Given the description of an element on the screen output the (x, y) to click on. 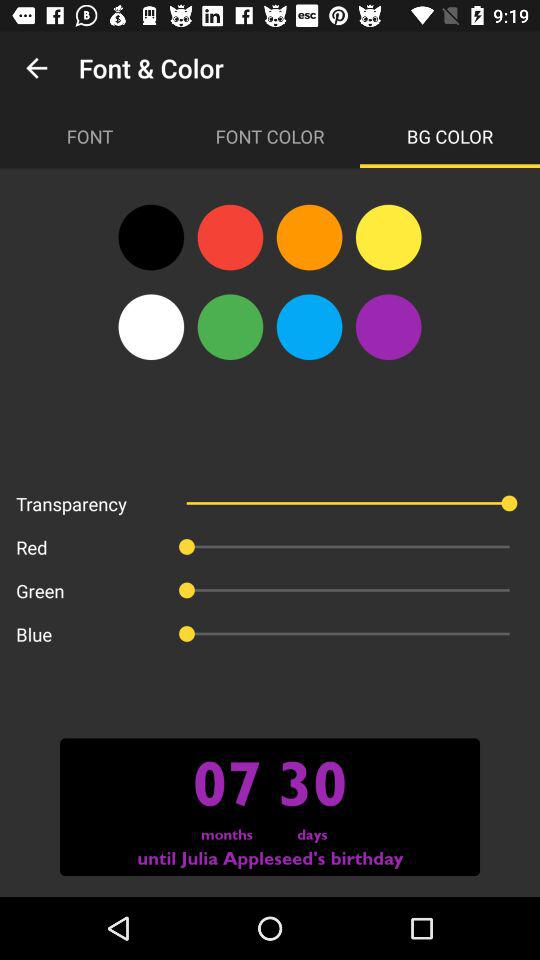
scroll to bg color (450, 136)
